Given the description of an element on the screen output the (x, y) to click on. 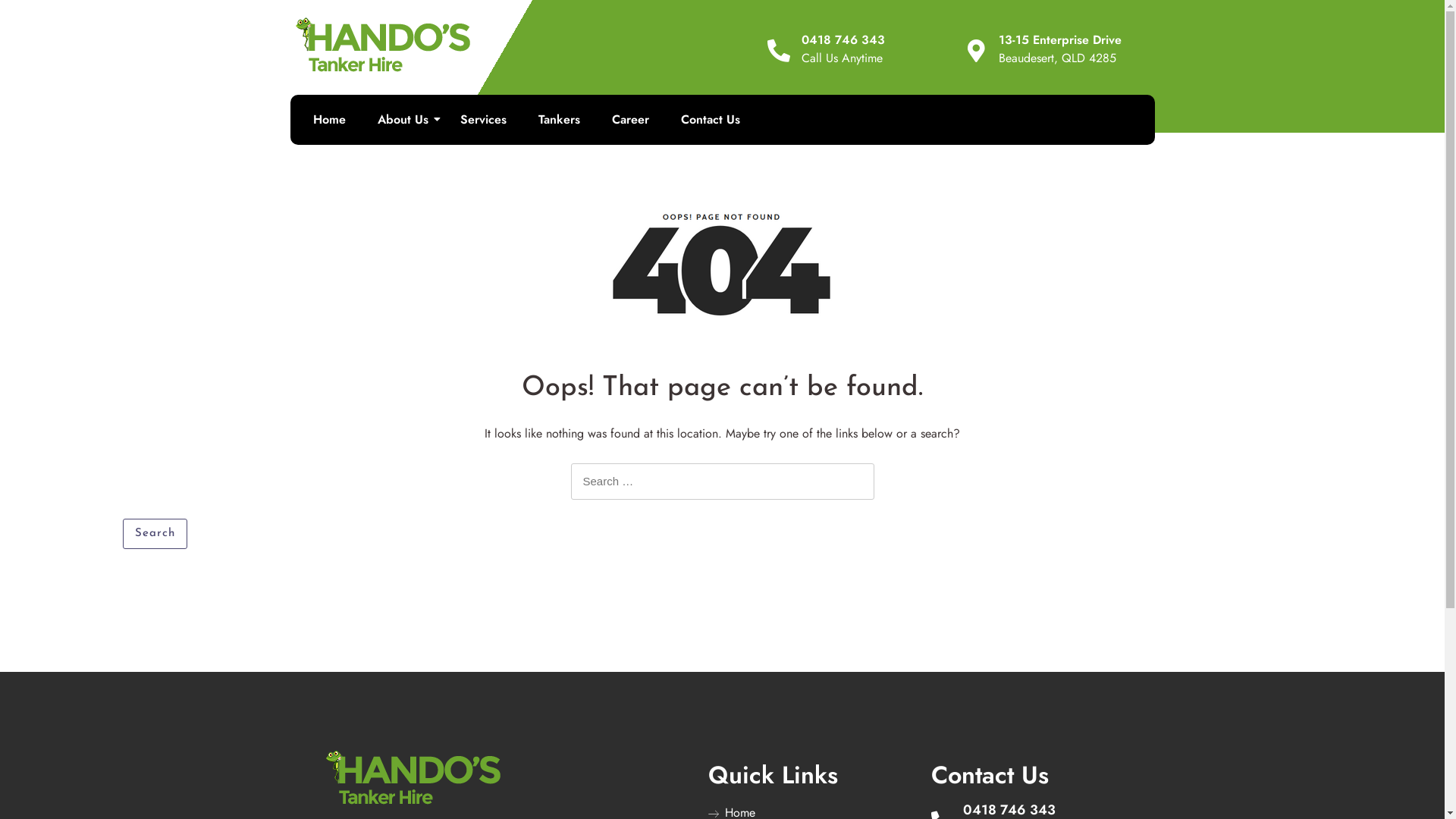
Search Element type: text (154, 533)
Contact Us Element type: text (710, 119)
Home Element type: text (328, 119)
0418 746 343 Element type: text (842, 39)
Services Element type: text (482, 119)
Tankers Element type: text (558, 119)
Career Element type: text (629, 119)
About Us Element type: text (403, 119)
